Given the description of an element on the screen output the (x, y) to click on. 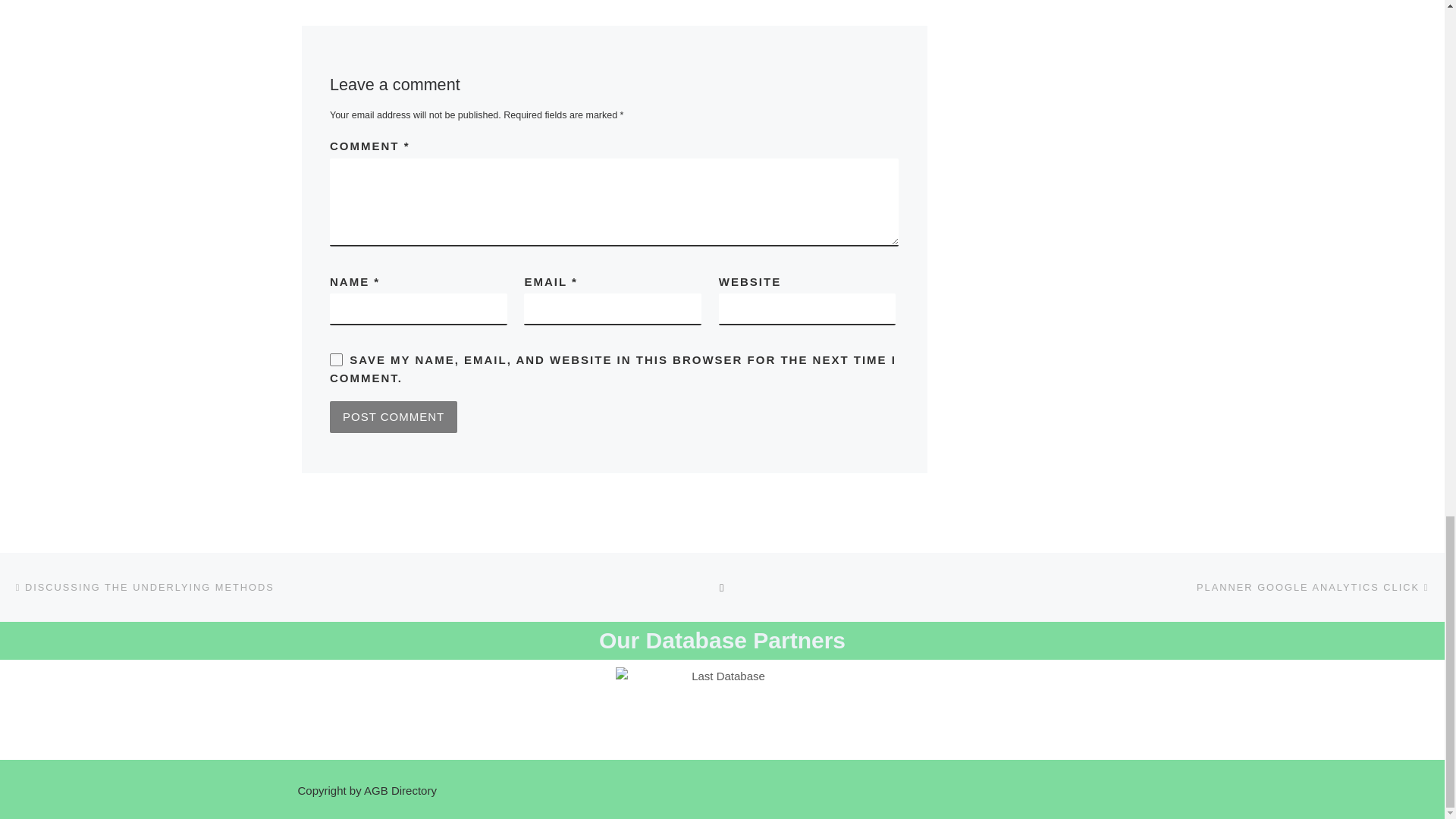
Post Comment (393, 417)
yes (336, 359)
